Given the description of an element on the screen output the (x, y) to click on. 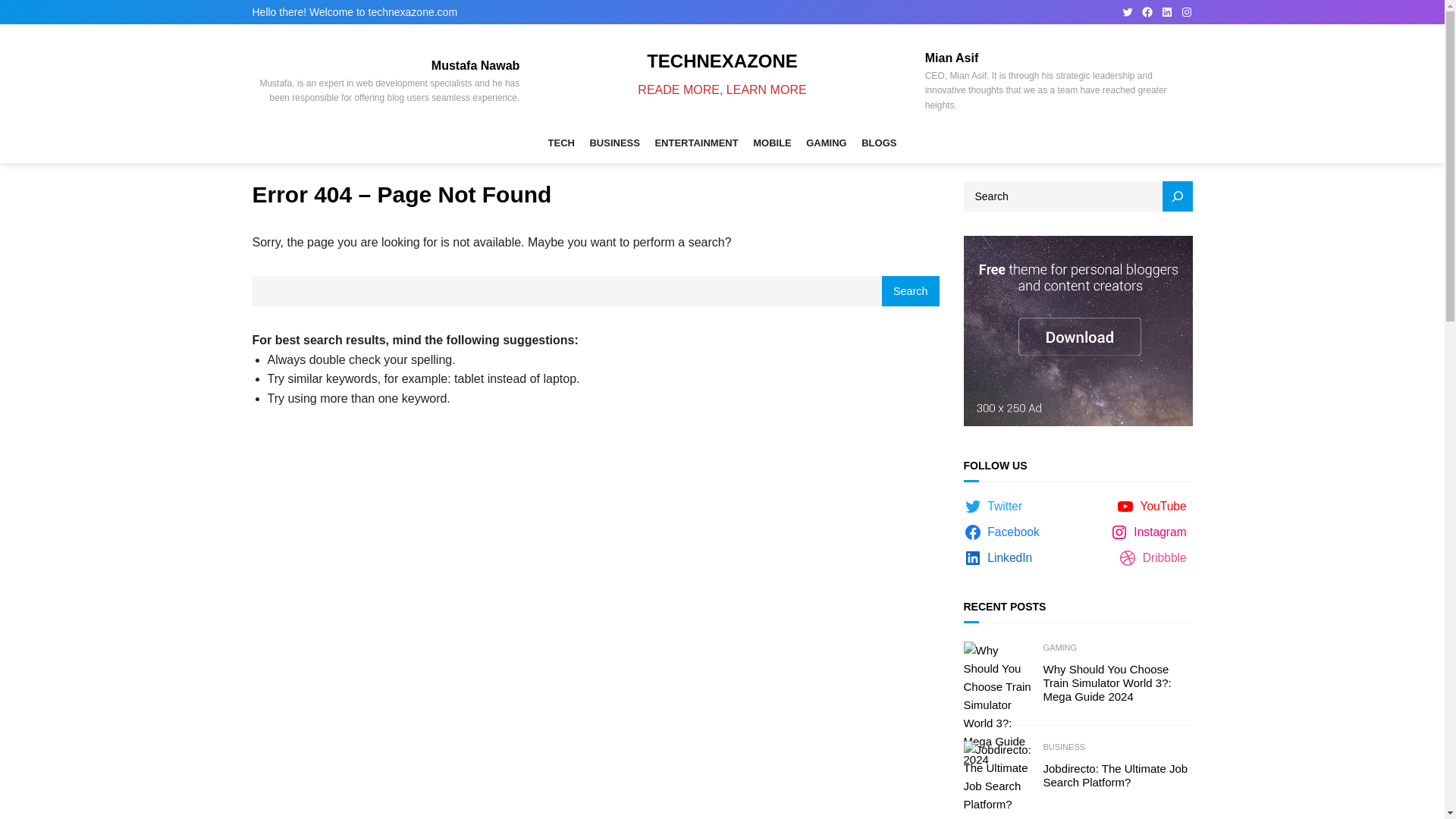
Instagram (1150, 532)
LinkedIn (1166, 11)
BLOGS (878, 142)
YouTube (1154, 506)
ENTERTAINMENT (695, 142)
LinkedIn (1000, 557)
Facebook (1146, 11)
TECHNEXAZONE (721, 60)
technexazone.com (413, 11)
